Given the description of an element on the screen output the (x, y) to click on. 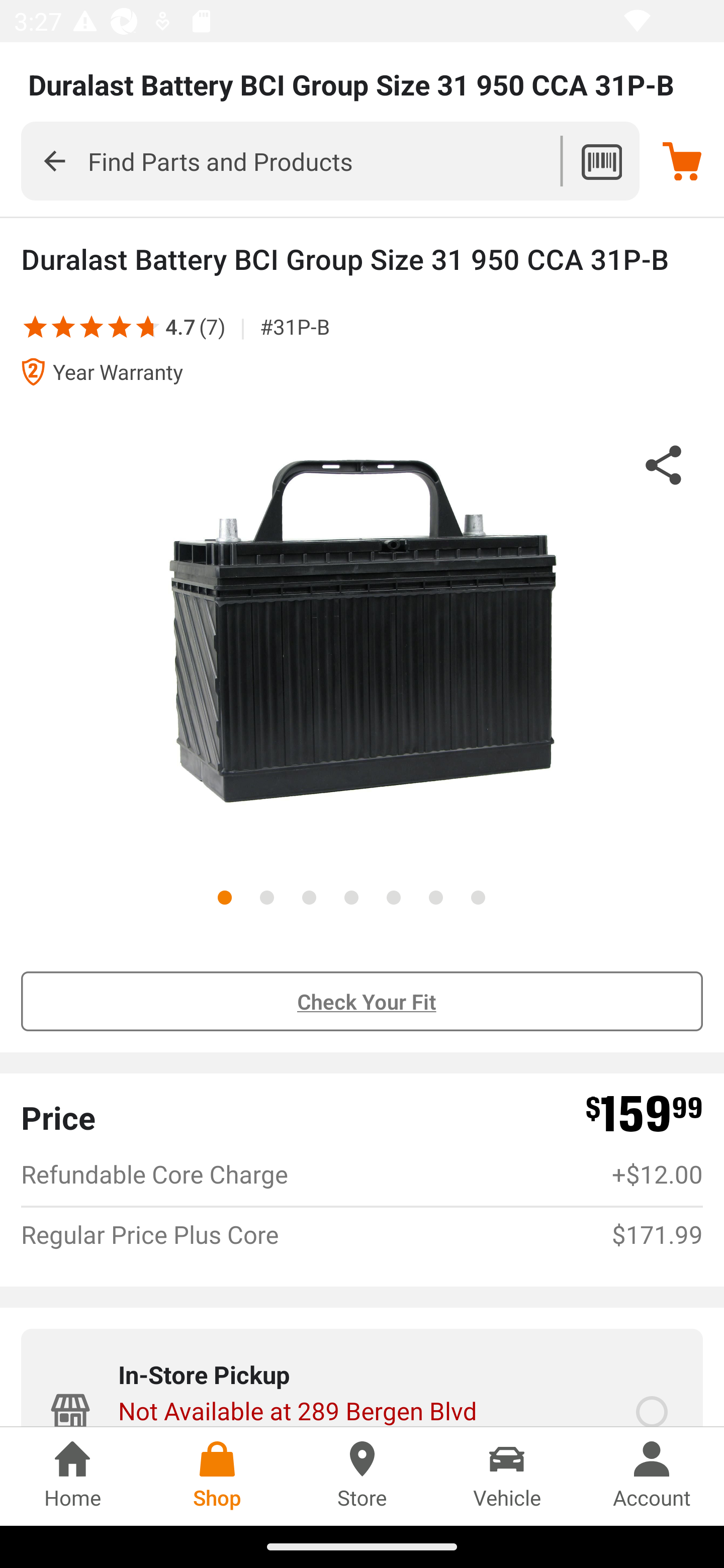
 scan-product-to-search  (601, 161)
 (54, 160)
Cart, no items  (681, 160)
 (34, 326)
 (63, 326)
 (91, 326)
 (119, 326)
 (143, 326)
share button (663, 468)
Check your fit Check Your Fit (361, 1001)
In-Store Pickup (651, 1410)
Home (72, 1475)
Shop (216, 1475)
Store (361, 1475)
Vehicle (506, 1475)
Account (651, 1475)
